Given the description of an element on the screen output the (x, y) to click on. 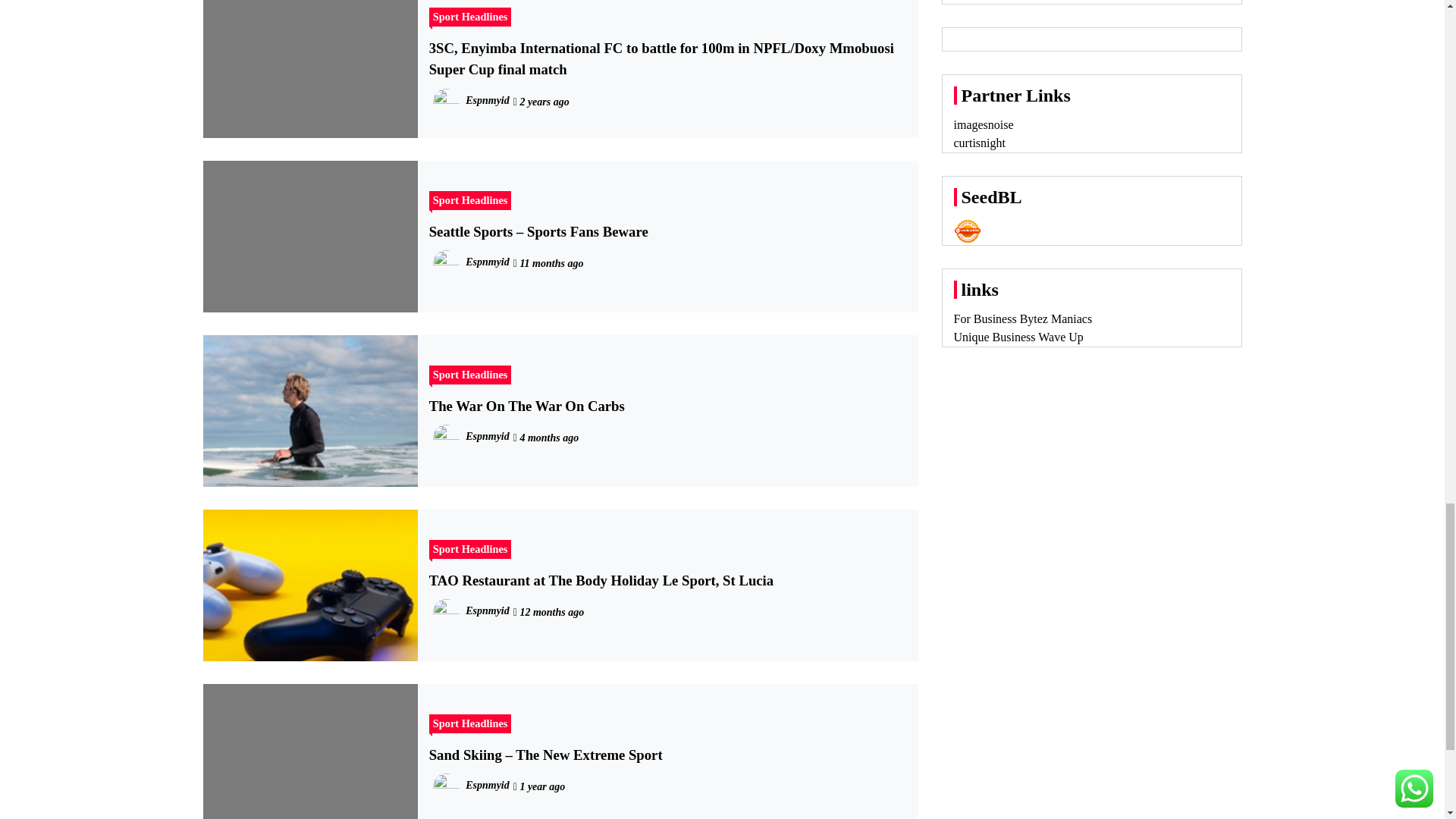
Seedbacklink (967, 230)
